Given the description of an element on the screen output the (x, y) to click on. 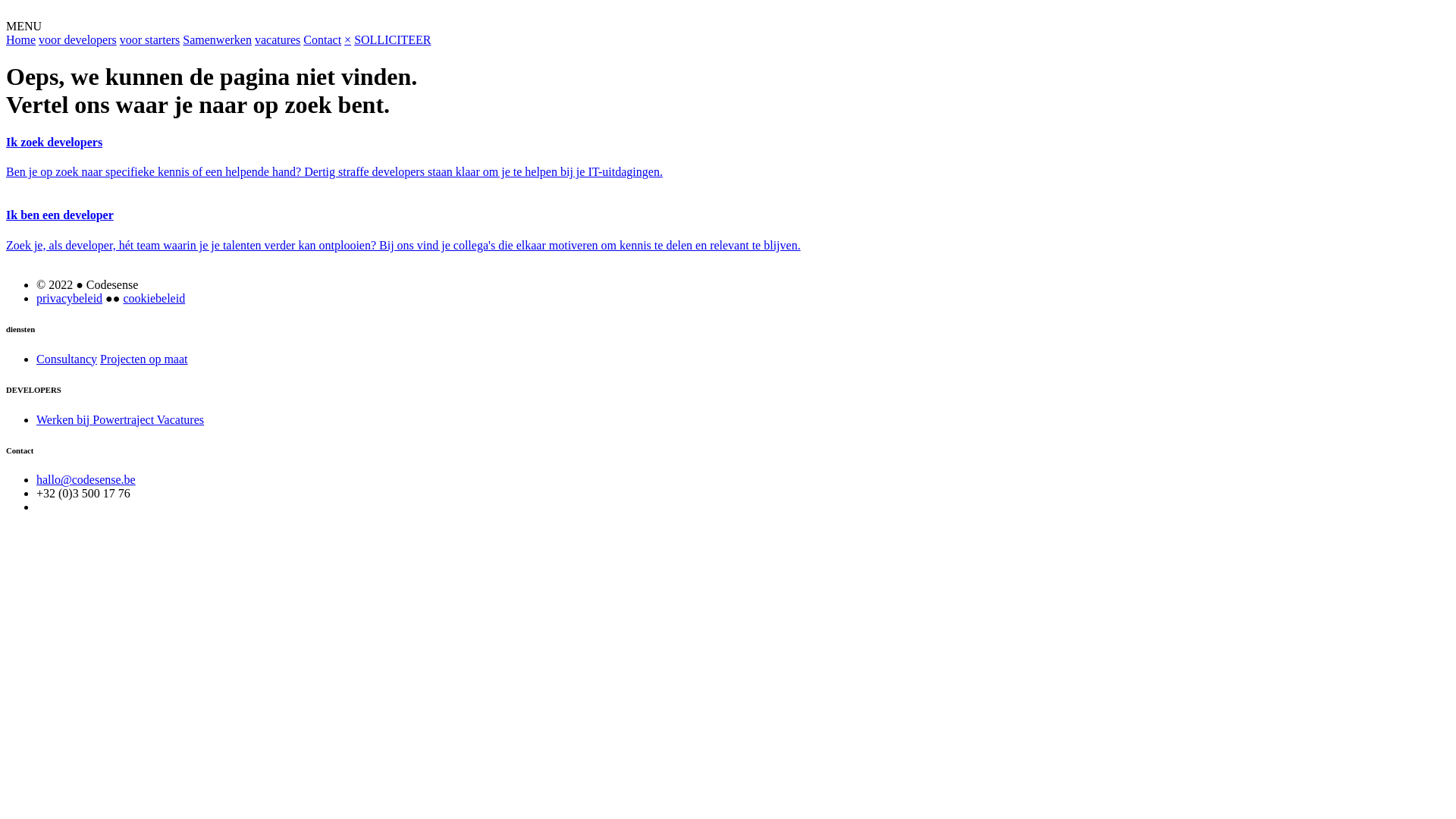
Home Element type: text (20, 39)
Werken bij Element type: text (64, 419)
Consultancy Element type: text (66, 358)
SOLLICITEER Element type: text (392, 39)
vacatures Element type: text (277, 39)
Samenwerken Element type: text (216, 39)
Vacatures Element type: text (179, 419)
voor starters Element type: text (149, 39)
hallo@codesense.be Element type: text (85, 479)
voor developers Element type: text (77, 39)
privacybeleid Element type: text (69, 297)
Contact Element type: text (322, 39)
cookiebeleid Element type: text (153, 297)
Powertraject Element type: text (124, 419)
Projecten op maat Element type: text (144, 358)
